Given the description of an element on the screen output the (x, y) to click on. 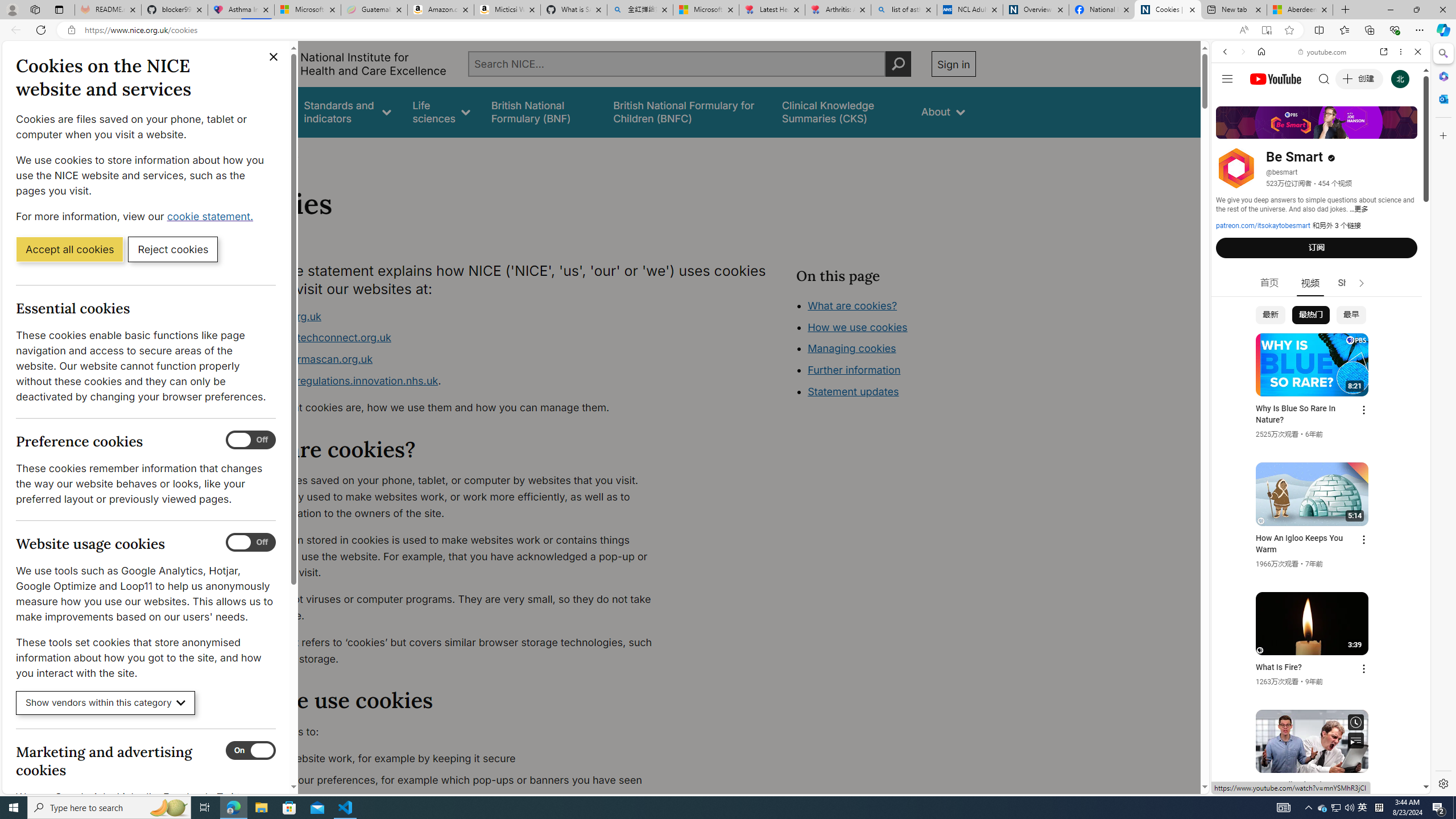
Close cookie banner (273, 56)
What are cookies? (852, 305)
Managing cookies (852, 348)
